Given the description of an element on the screen output the (x, y) to click on. 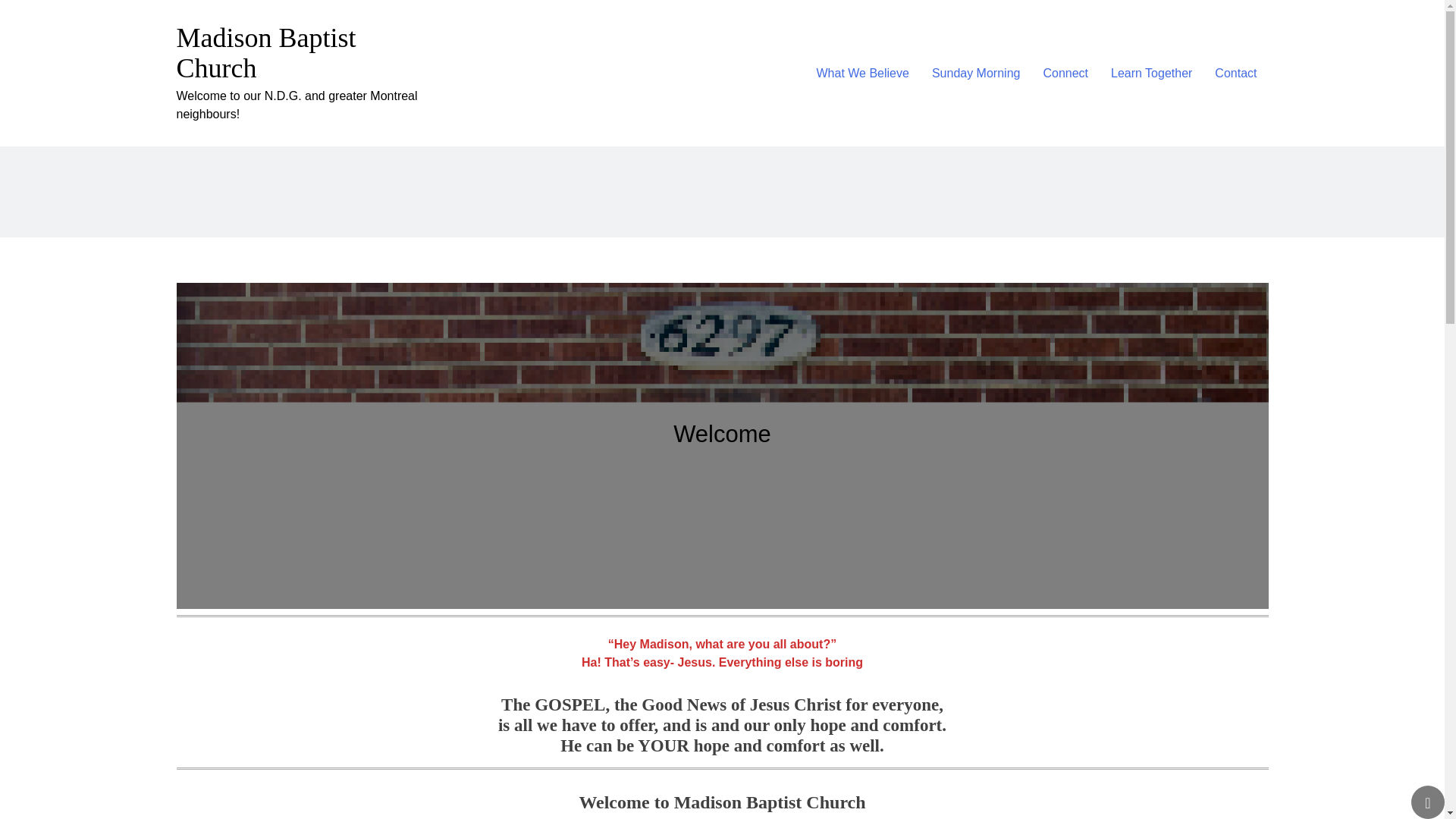
Contact (1236, 72)
Madison Baptist Church (265, 52)
Connect (1064, 72)
What We Believe (862, 72)
Sunday Morning (976, 72)
Learn Together (1151, 72)
